Given the description of an element on the screen output the (x, y) to click on. 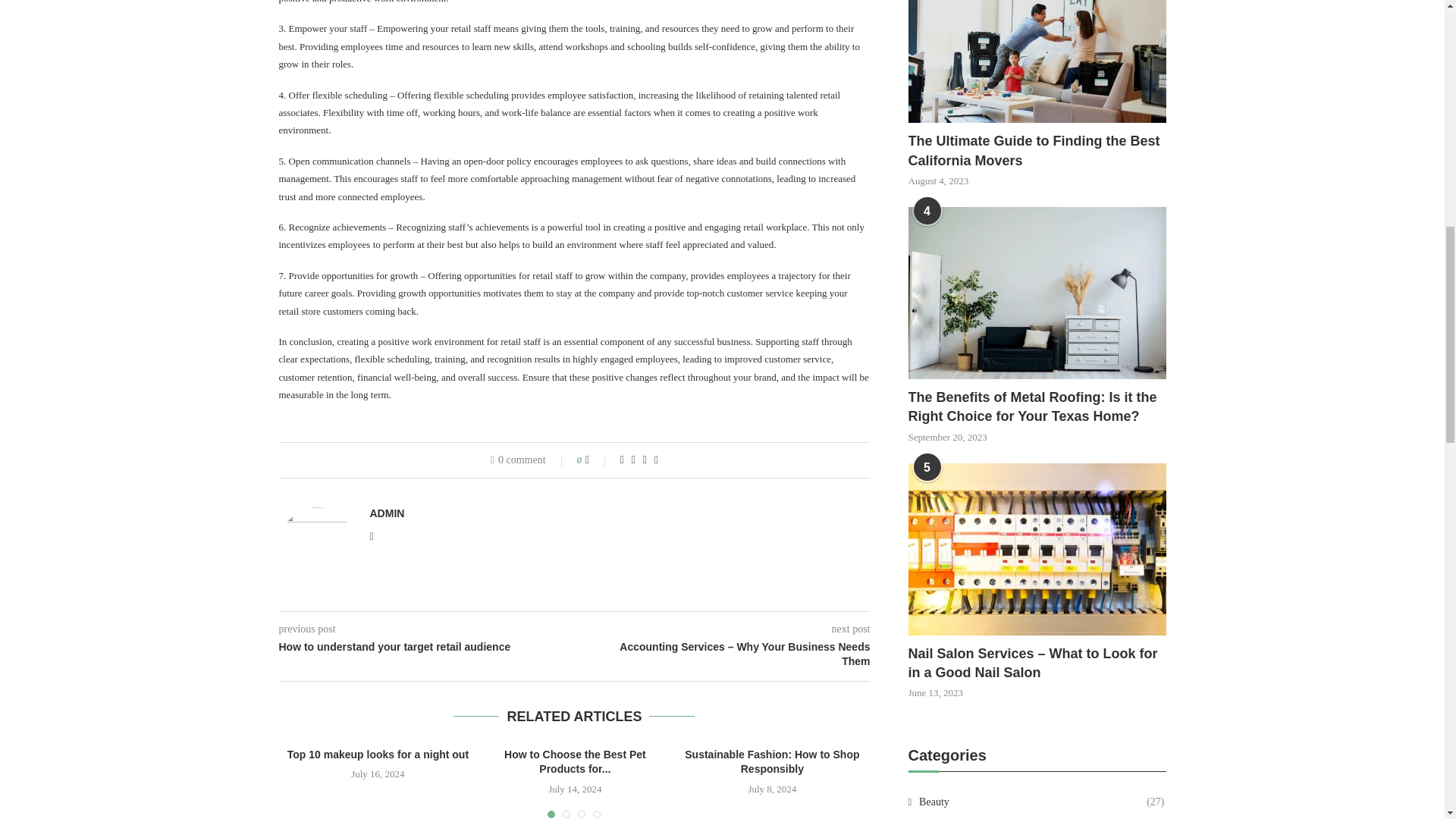
Author admin (386, 512)
Like (597, 460)
